Given the description of an element on the screen output the (x, y) to click on. 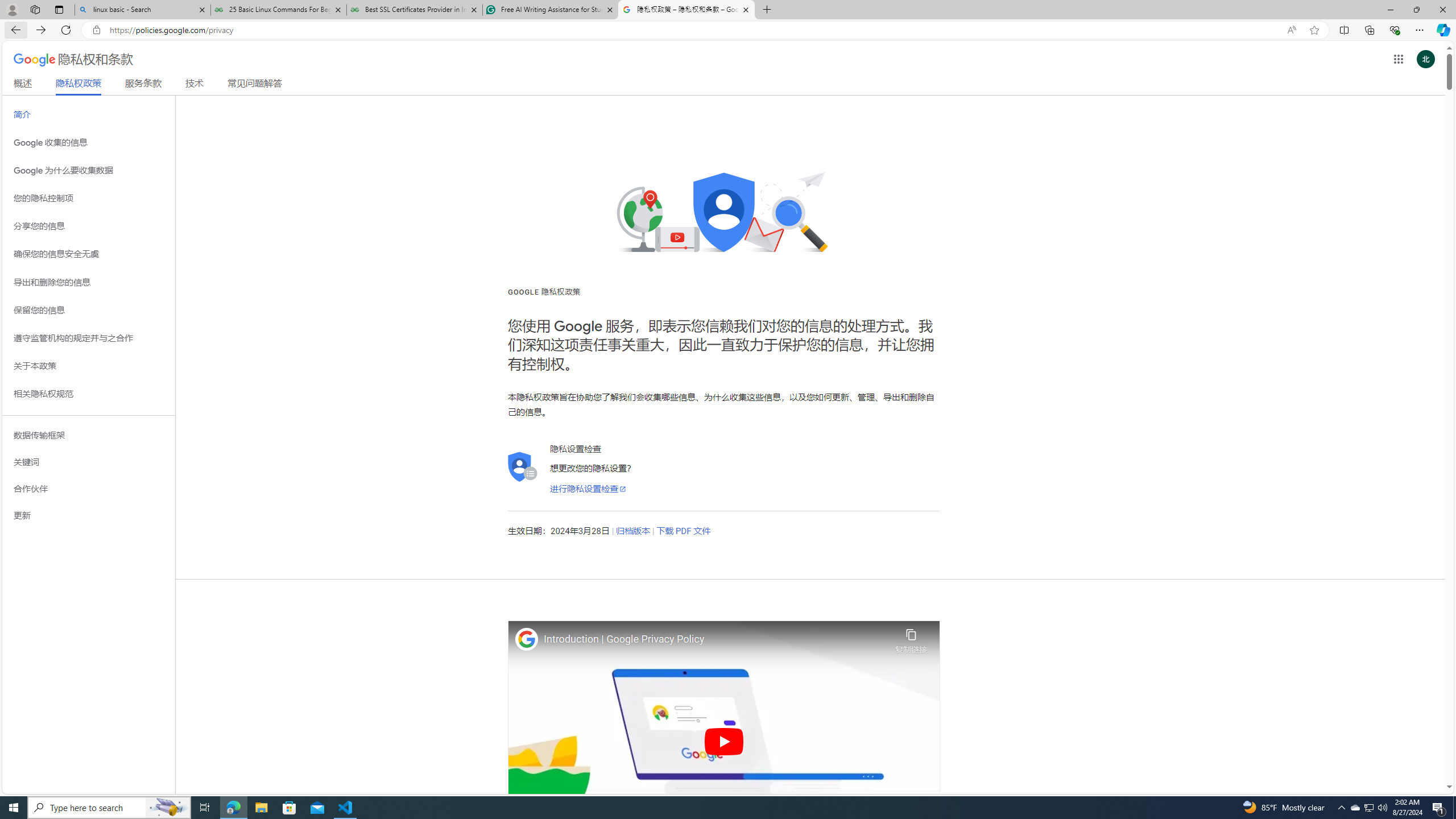
Workspaces (34, 9)
View site information (96, 29)
Forward (40, 29)
linux basic - Search (142, 9)
